Given the description of an element on the screen output the (x, y) to click on. 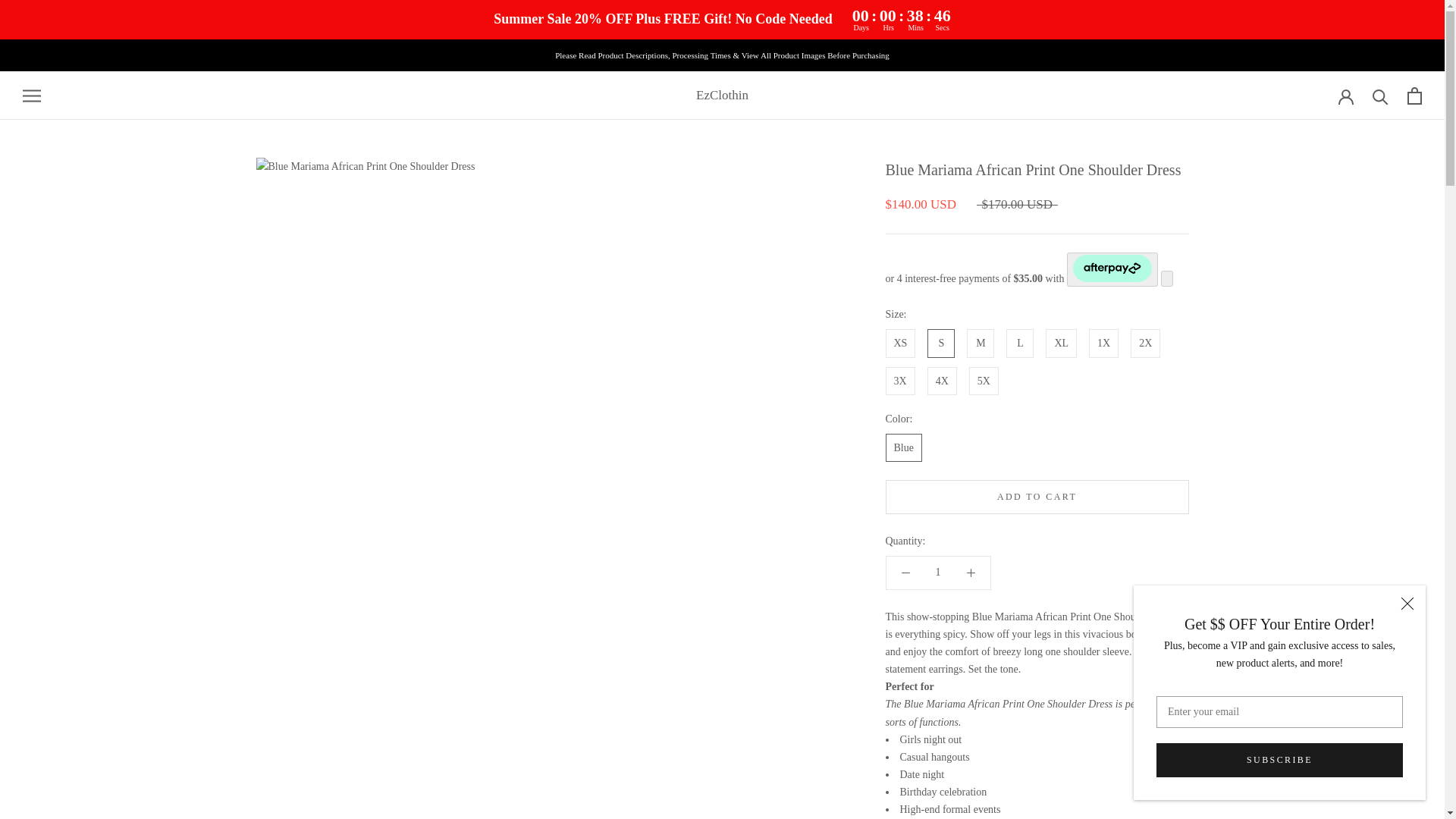
SUBSCRIBE (1279, 759)
1 (938, 572)
EzClothin (721, 95)
